Given the description of an element on the screen output the (x, y) to click on. 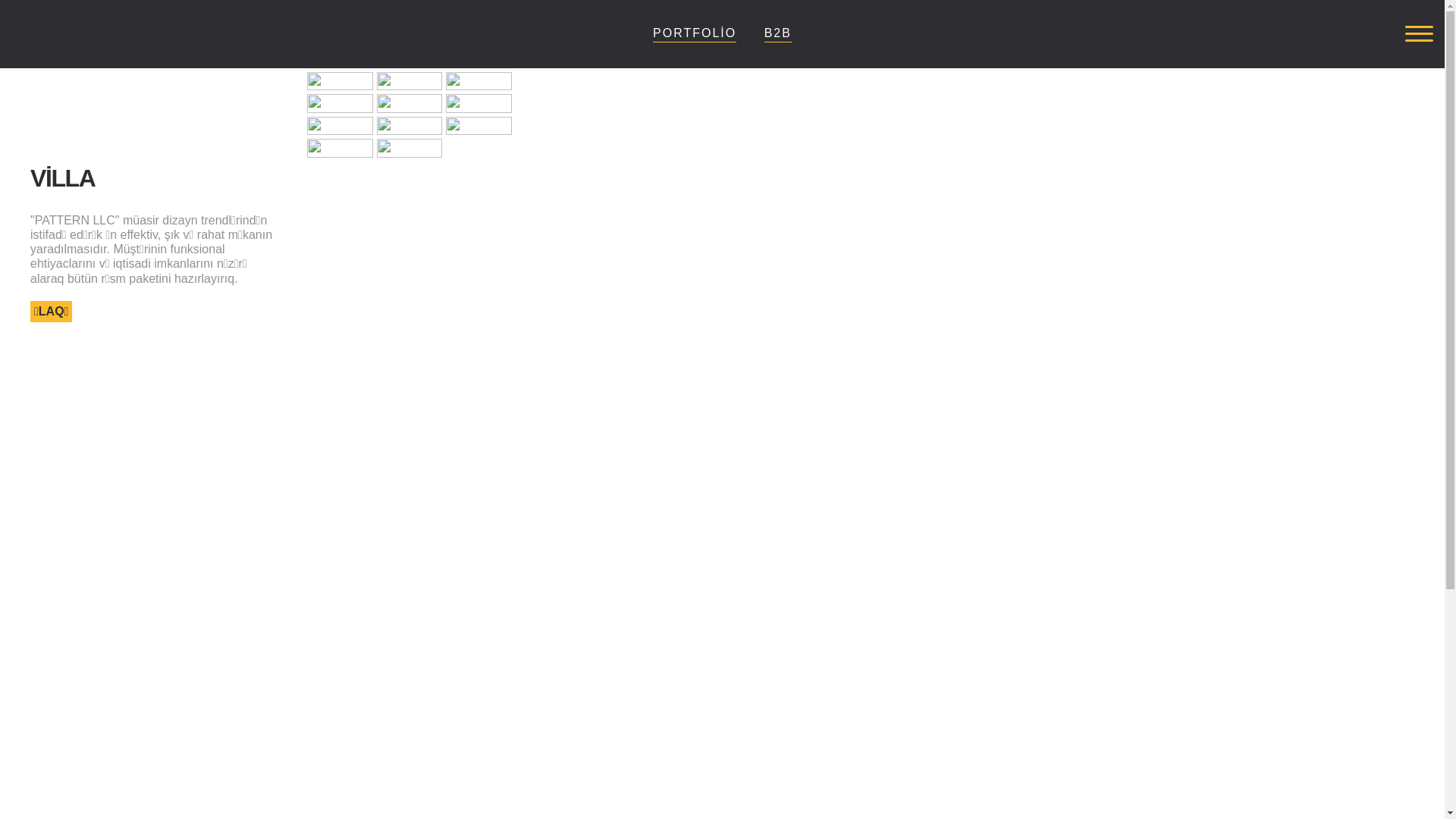
B2B Element type: text (777, 33)
